Given the description of an element on the screen output the (x, y) to click on. 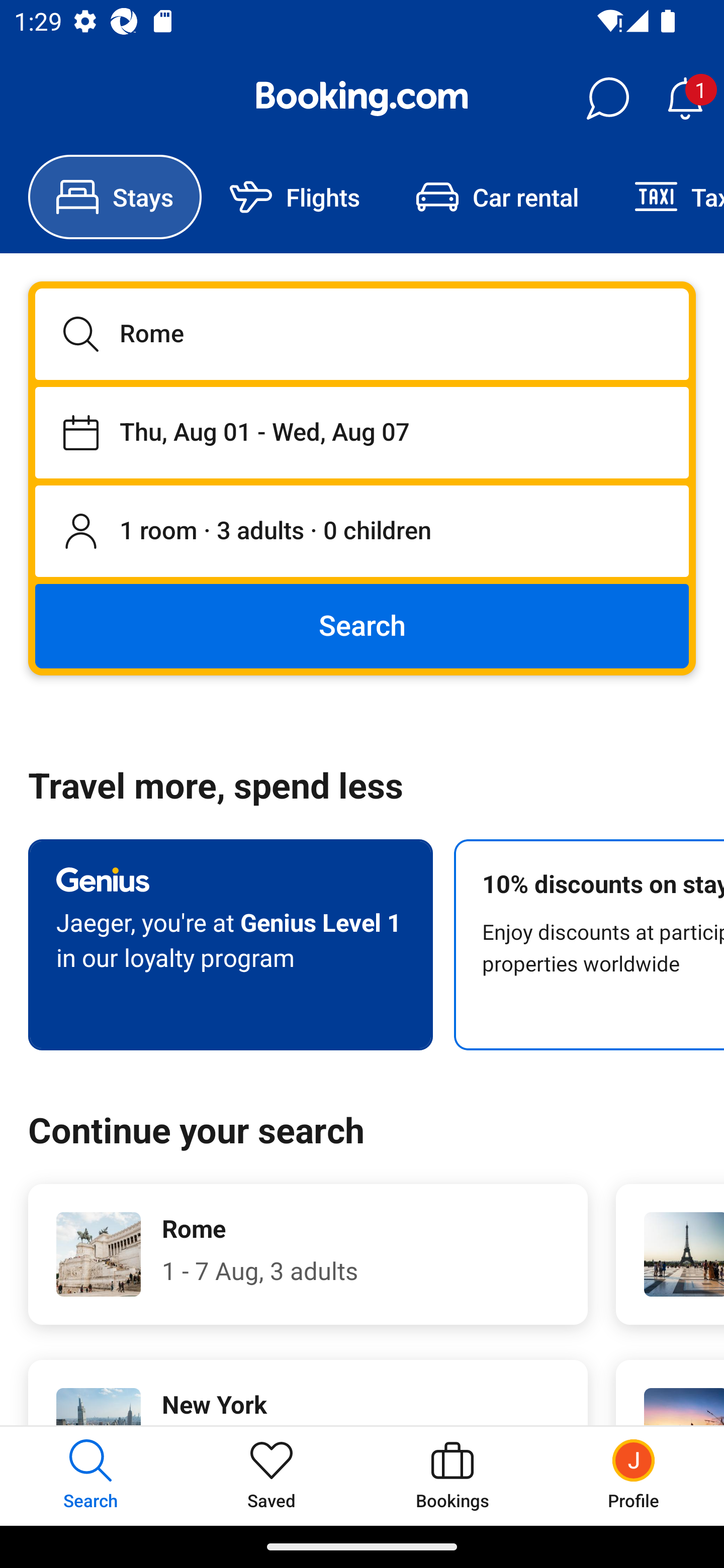
Messages (607, 98)
Notifications (685, 98)
Stays (114, 197)
Flights (294, 197)
Car rental (497, 197)
Taxi (665, 197)
Rome (361, 333)
Staying from Thu, Aug 01 until Wed, Aug 07 (361, 432)
1 room, 3 adults, 0 children (361, 531)
Search (361, 625)
Rome 1 - 7 Aug, 3 adults (307, 1253)
Saved (271, 1475)
Bookings (452, 1475)
Profile (633, 1475)
